Given the description of an element on the screen output the (x, y) to click on. 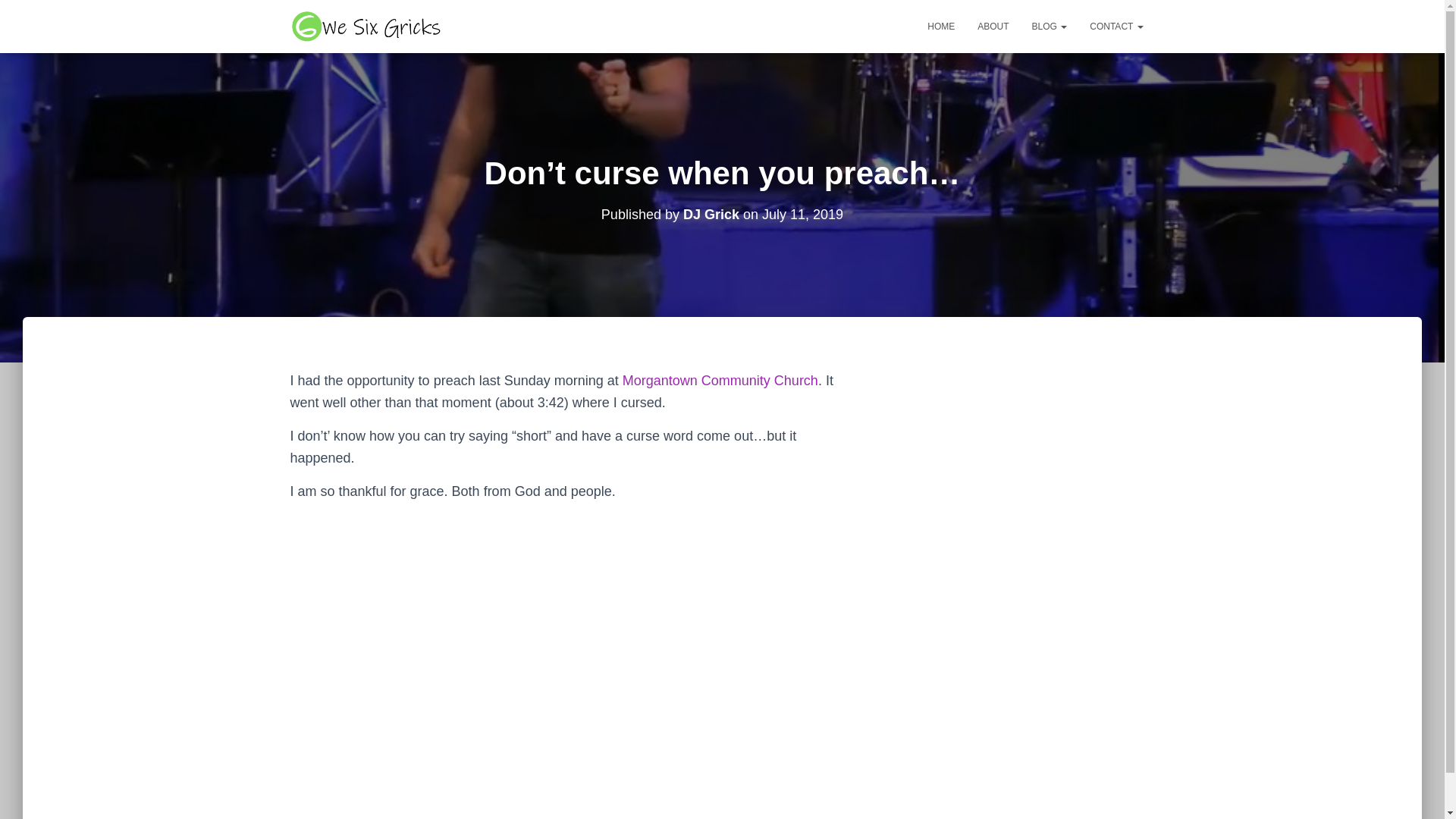
About (993, 26)
Blog (1049, 26)
CONTACT (1116, 26)
We Six  Gricks (368, 26)
Home (940, 26)
HOME (940, 26)
DJ Grick (710, 214)
Contact (1116, 26)
Morgantown Community Church (720, 380)
ABOUT (993, 26)
